Given the description of an element on the screen output the (x, y) to click on. 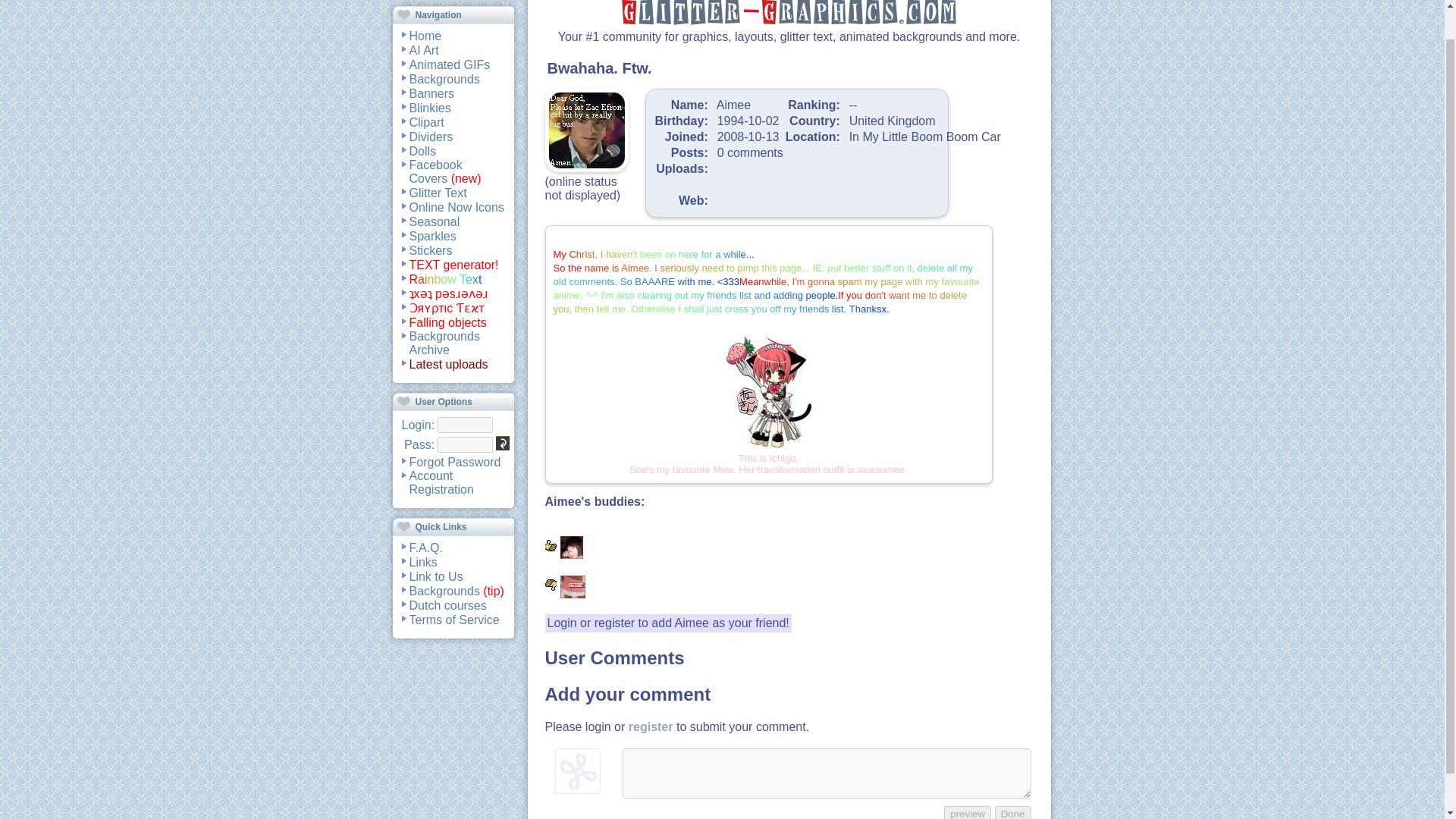
Links (423, 561)
Banners (431, 92)
Glitter Text (438, 192)
Latest uploads (448, 364)
Facebook Covers (436, 171)
AI Art (424, 50)
F.A.Q. (425, 547)
Falling objects (447, 321)
Stickers (430, 250)
Animated GIFs (449, 63)
